Given the description of an element on the screen output the (x, y) to click on. 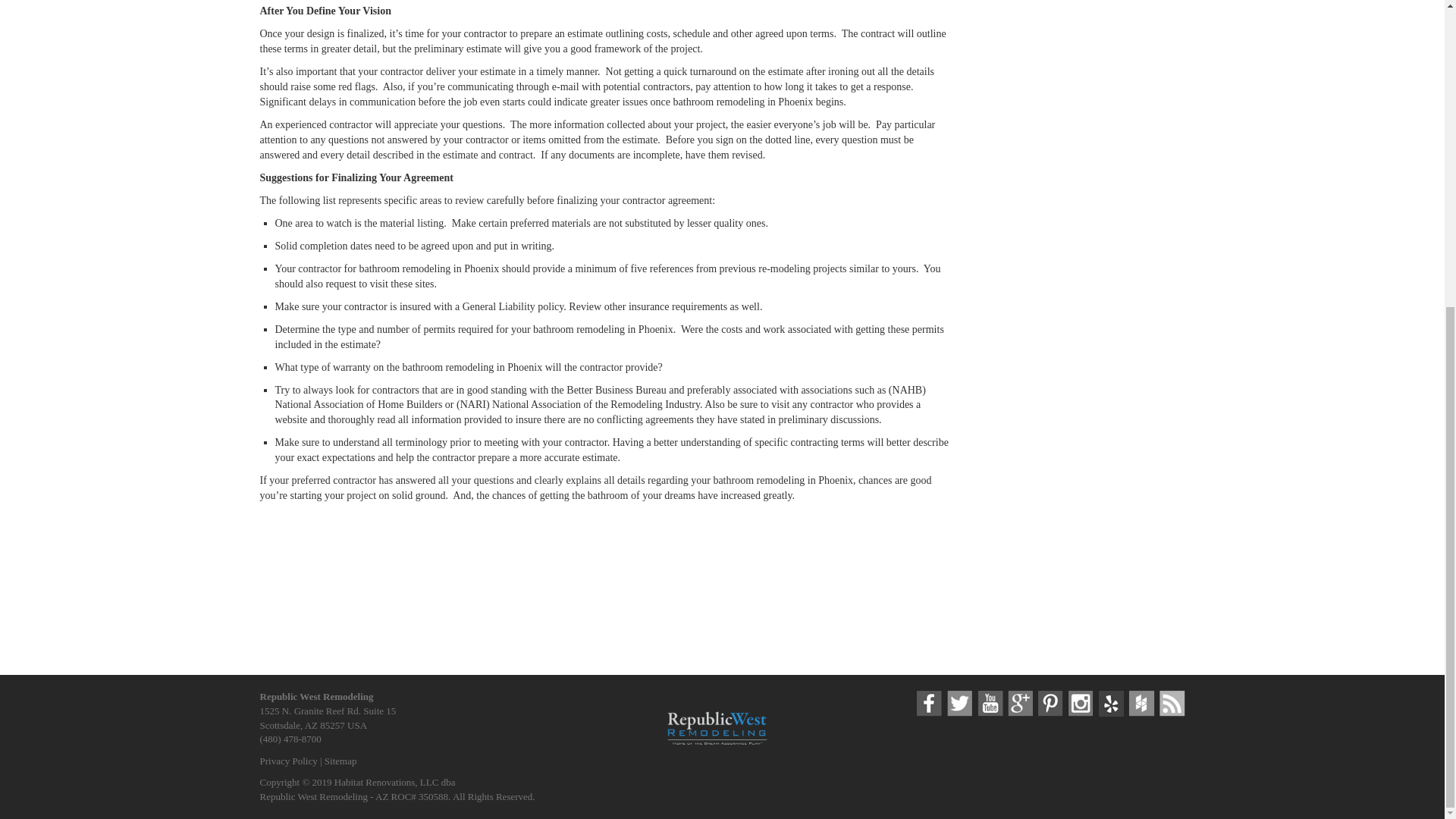
youtube (989, 703)
rss (1171, 703)
pinterest (1050, 703)
yelp (1110, 703)
instagram (1080, 703)
twitter (959, 703)
houzz (1141, 703)
facebook (928, 703)
